Given the description of an element on the screen output the (x, y) to click on. 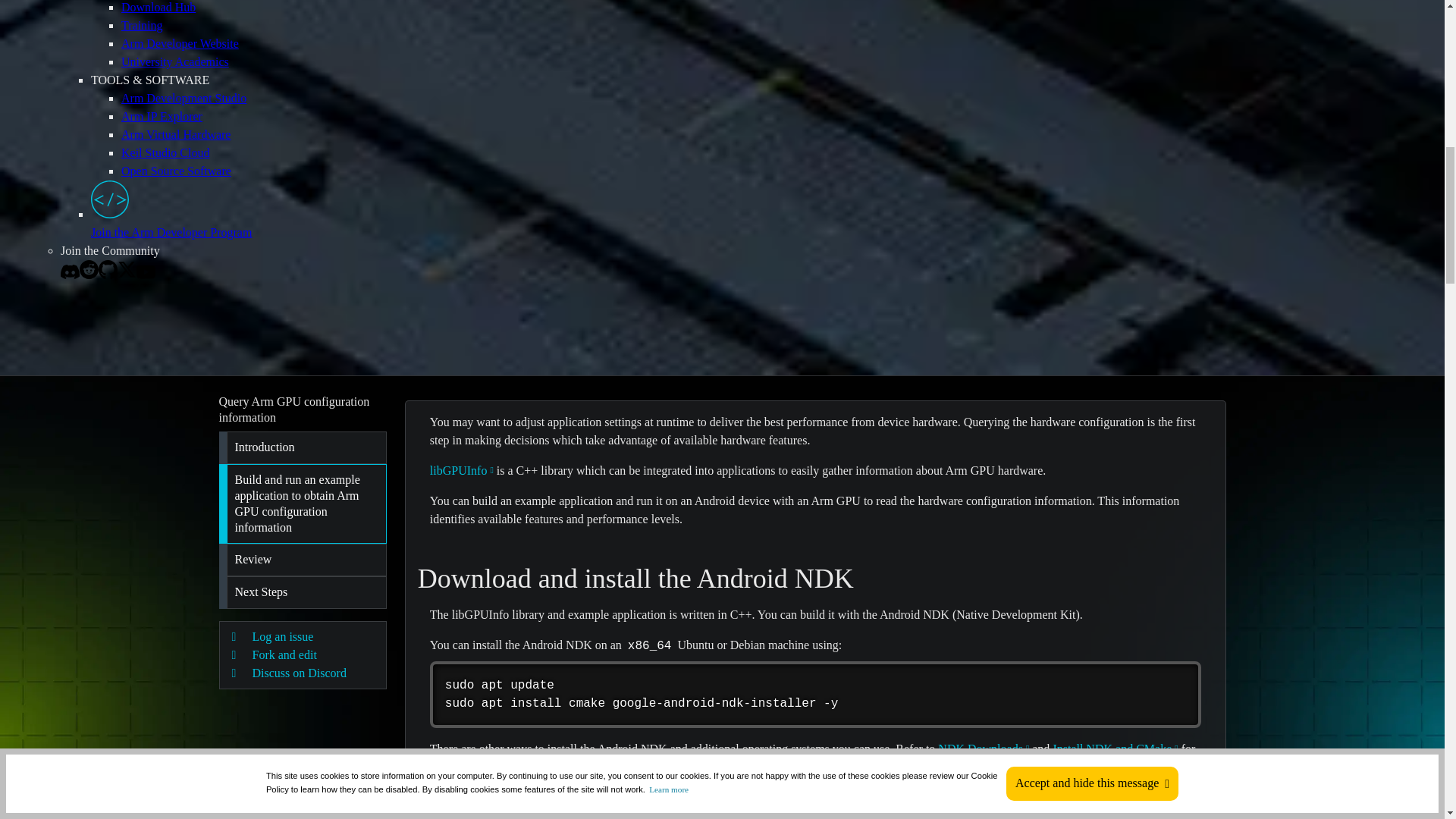
Next Steps (301, 592)
  Fork and edit (302, 655)
  Discuss on Discord (302, 673)
libGPUInfo (461, 470)
  Log an issue (302, 637)
Install NDK and CMake (1114, 748)
Review (301, 559)
Introduction (301, 447)
NDK Downloads (983, 748)
